Given the description of an element on the screen output the (x, y) to click on. 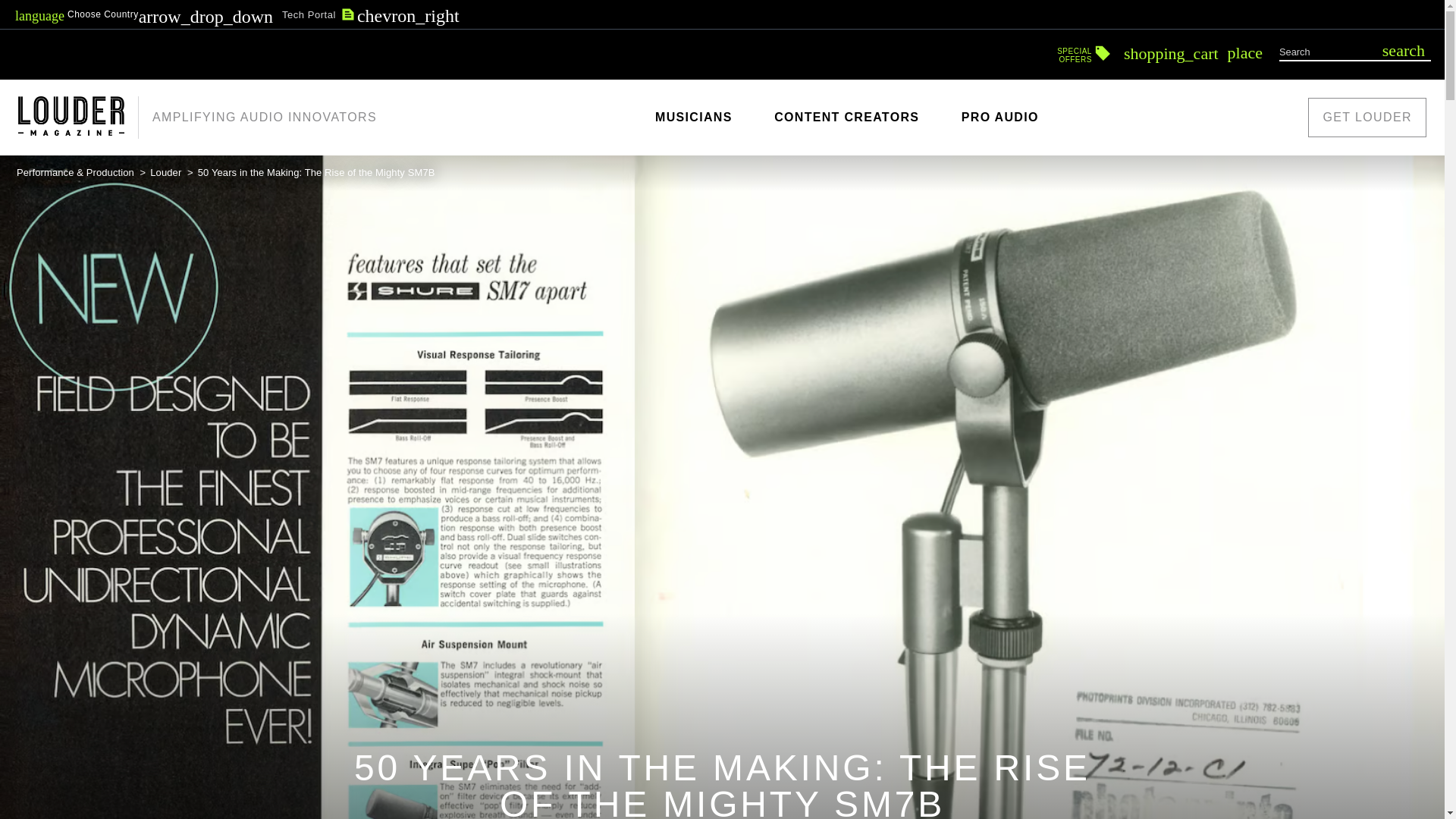
languageChoose Country (1083, 49)
PRO AUDIO (143, 13)
search (999, 117)
place (1403, 50)
CONTENT CREATORS (1244, 51)
Louder (846, 117)
MUSICIANS (166, 172)
GET LOUDER (693, 117)
